Given the description of an element on the screen output the (x, y) to click on. 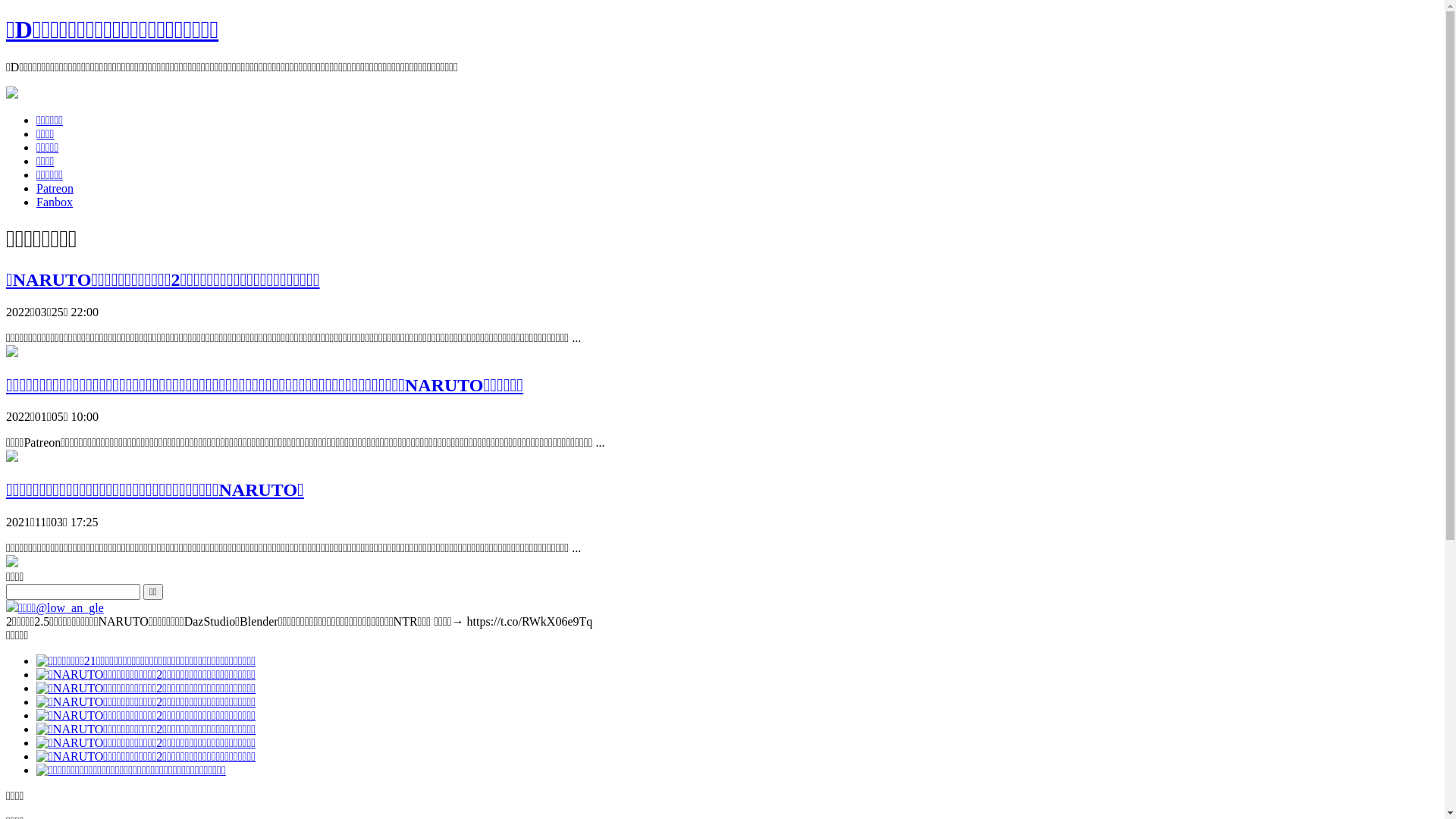
Patreon Element type: text (54, 188)
Fanbox Element type: text (54, 201)
